Given the description of an element on the screen output the (x, y) to click on. 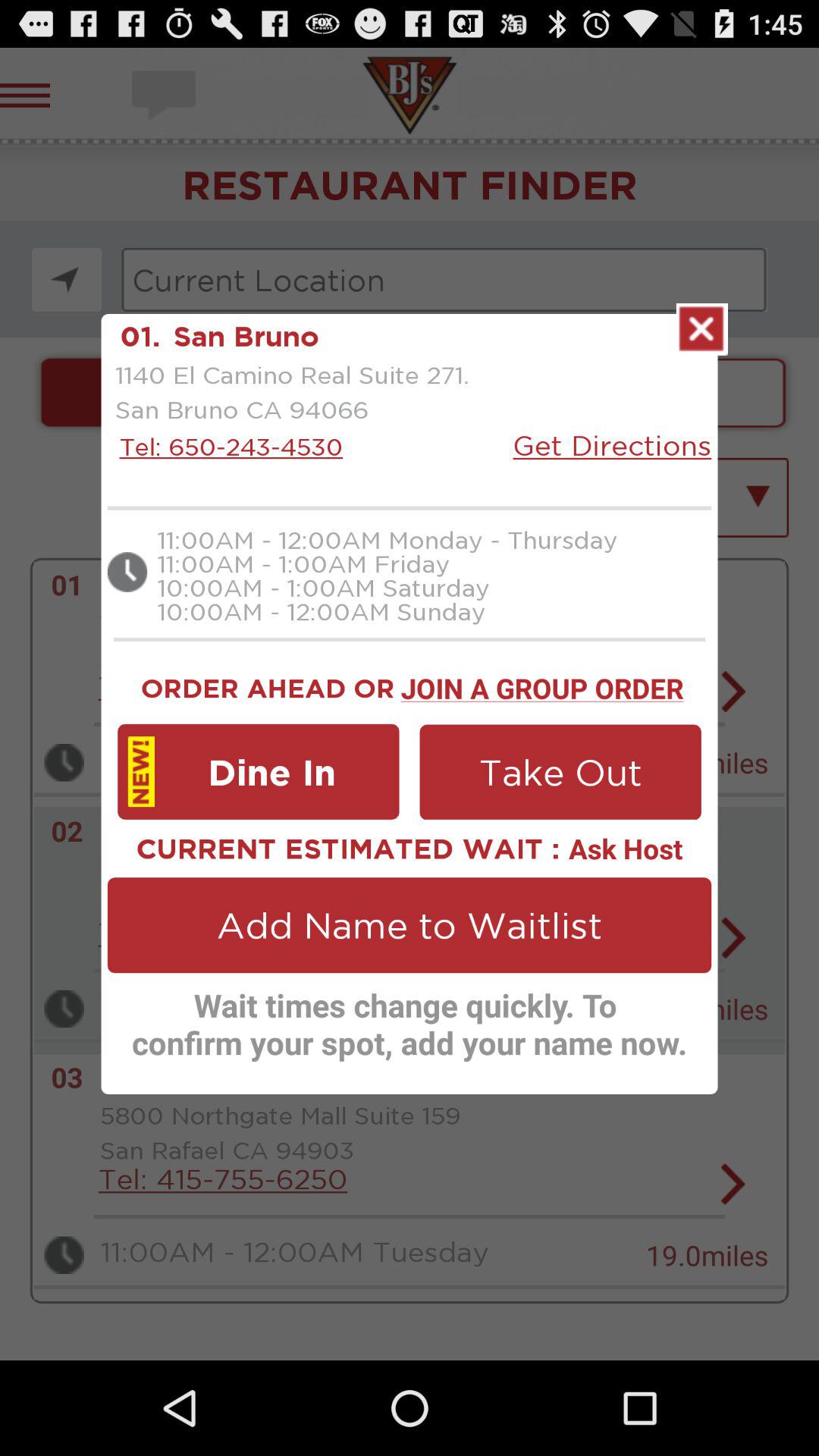
go to closed (702, 329)
